Given the description of an element on the screen output the (x, y) to click on. 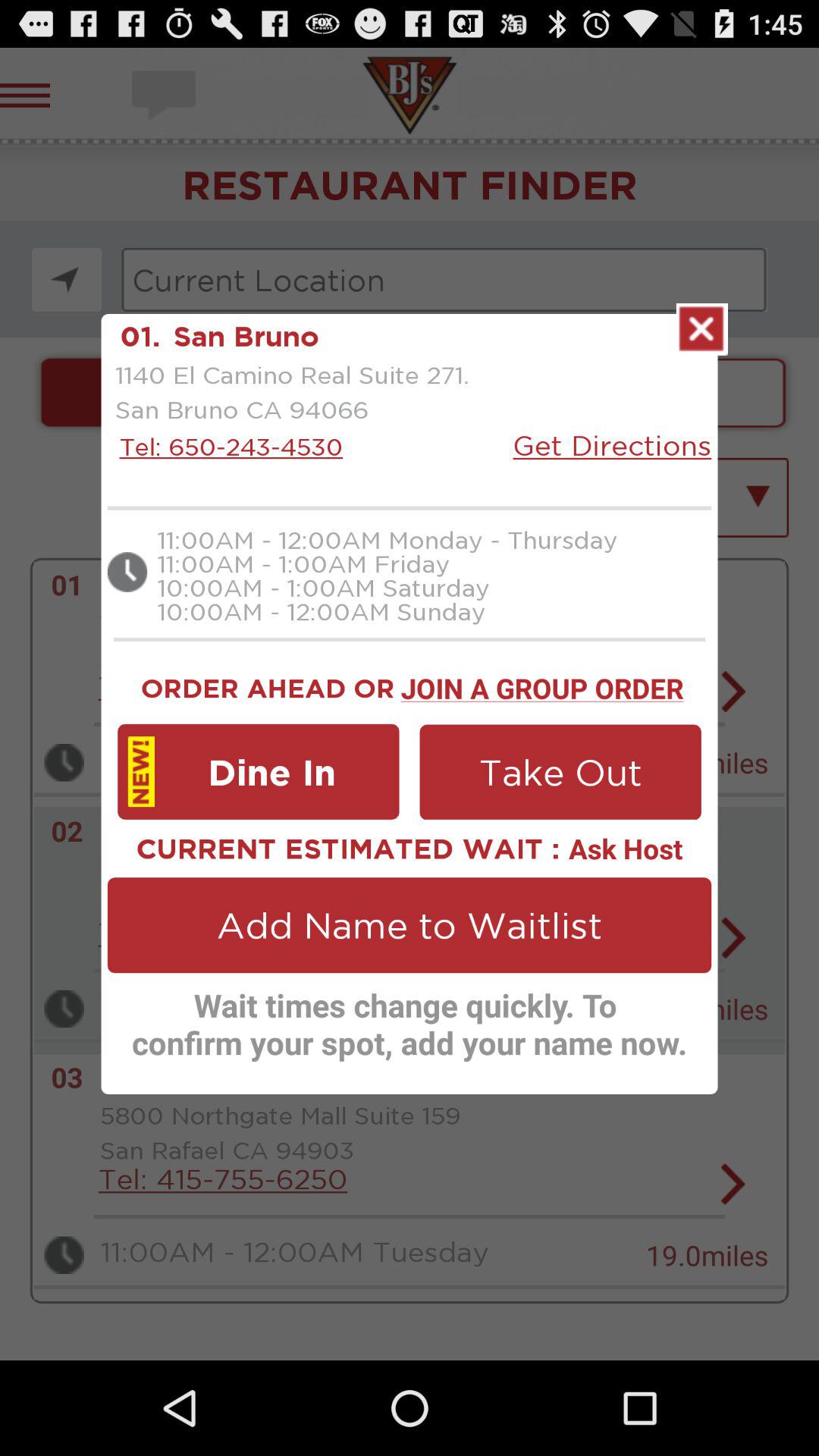
go to closed (702, 329)
